Given the description of an element on the screen output the (x, y) to click on. 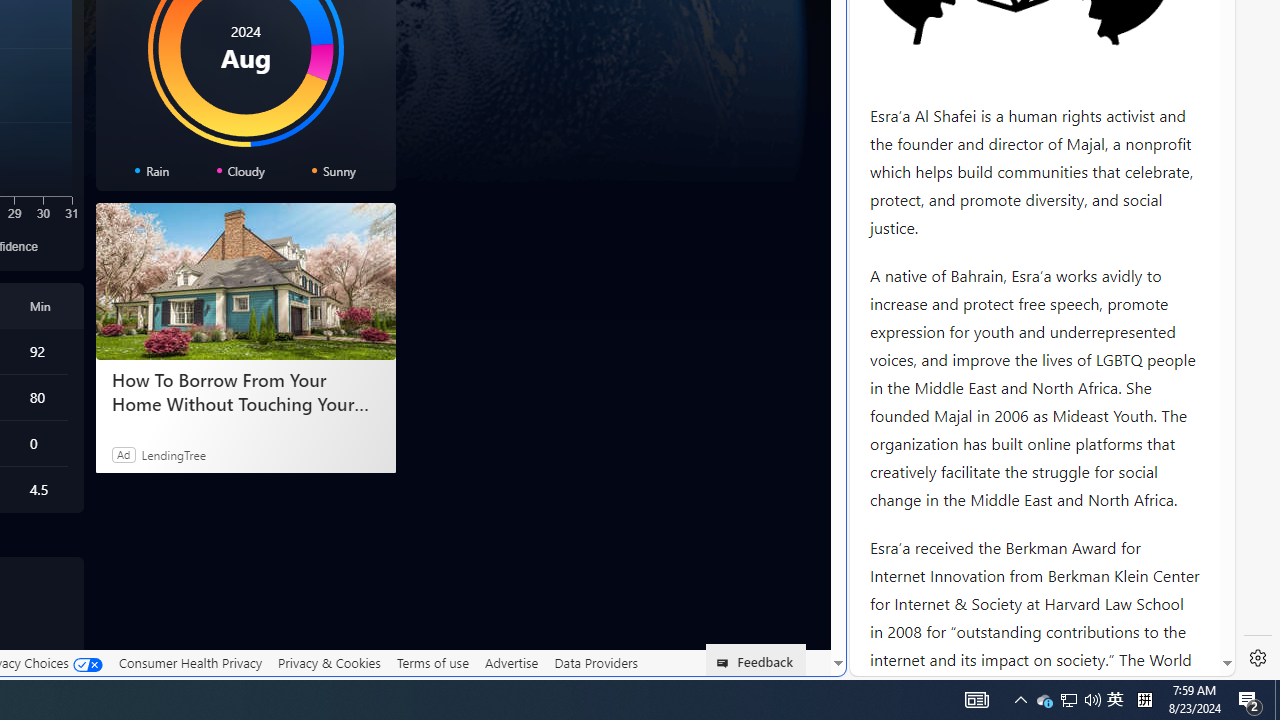
Data Providers (595, 663)
